Given the description of an element on the screen output the (x, y) to click on. 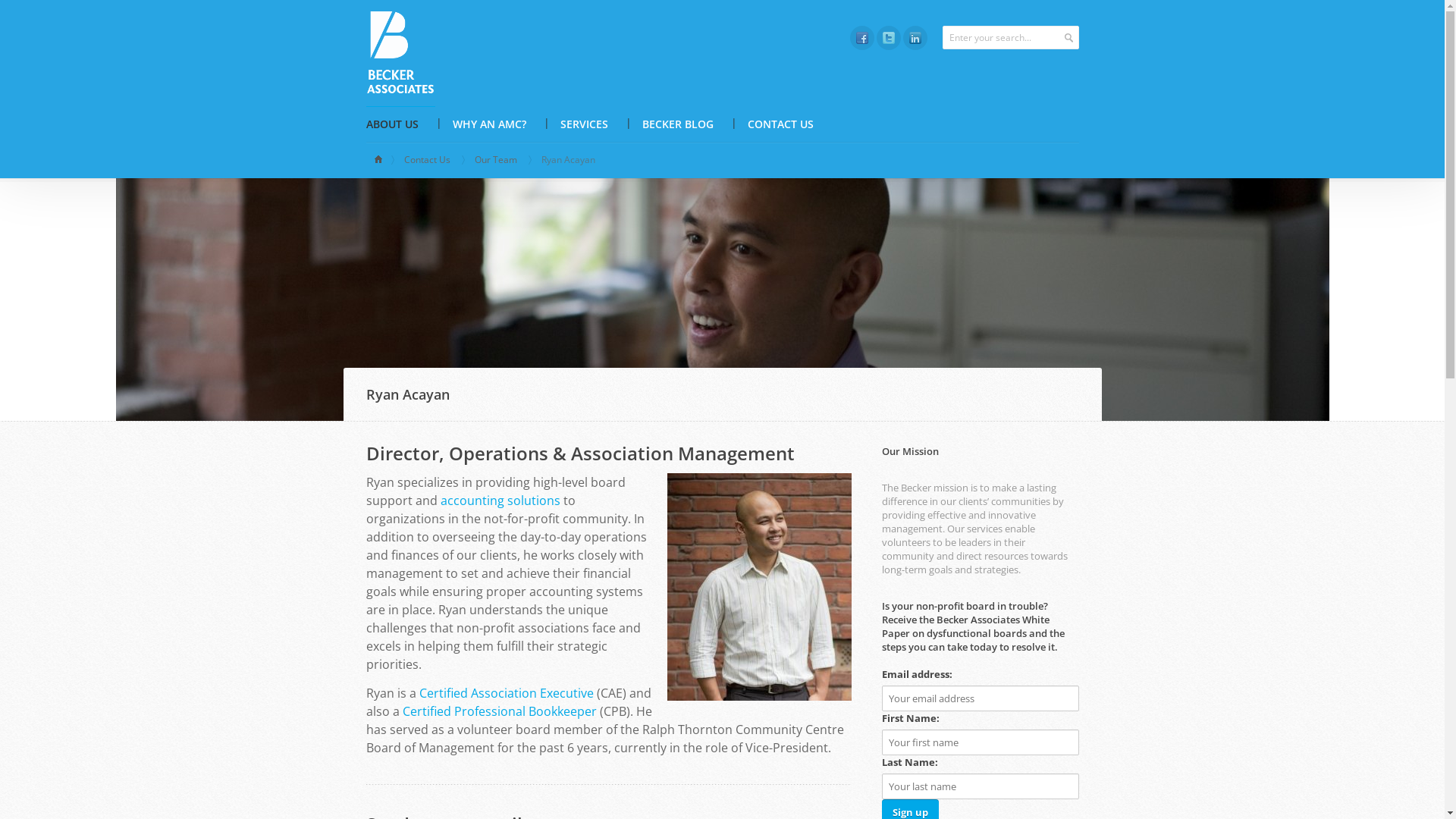
Home Element type: text (379, 159)
Certified Association Executive Element type: text (505, 692)
Our Team Element type: text (498, 159)
accounting solutions Element type: text (499, 500)
CONTACT US Element type: text (780, 123)
Certified Professional Bookkeeper Element type: text (498, 710)
BECKER BLOG Element type: text (676, 123)
SERVICES Element type: text (583, 123)
ABOUT US Element type: text (399, 123)
Contact Us Element type: text (429, 159)
WHY AN AMC? Element type: text (488, 123)
